Given the description of an element on the screen output the (x, y) to click on. 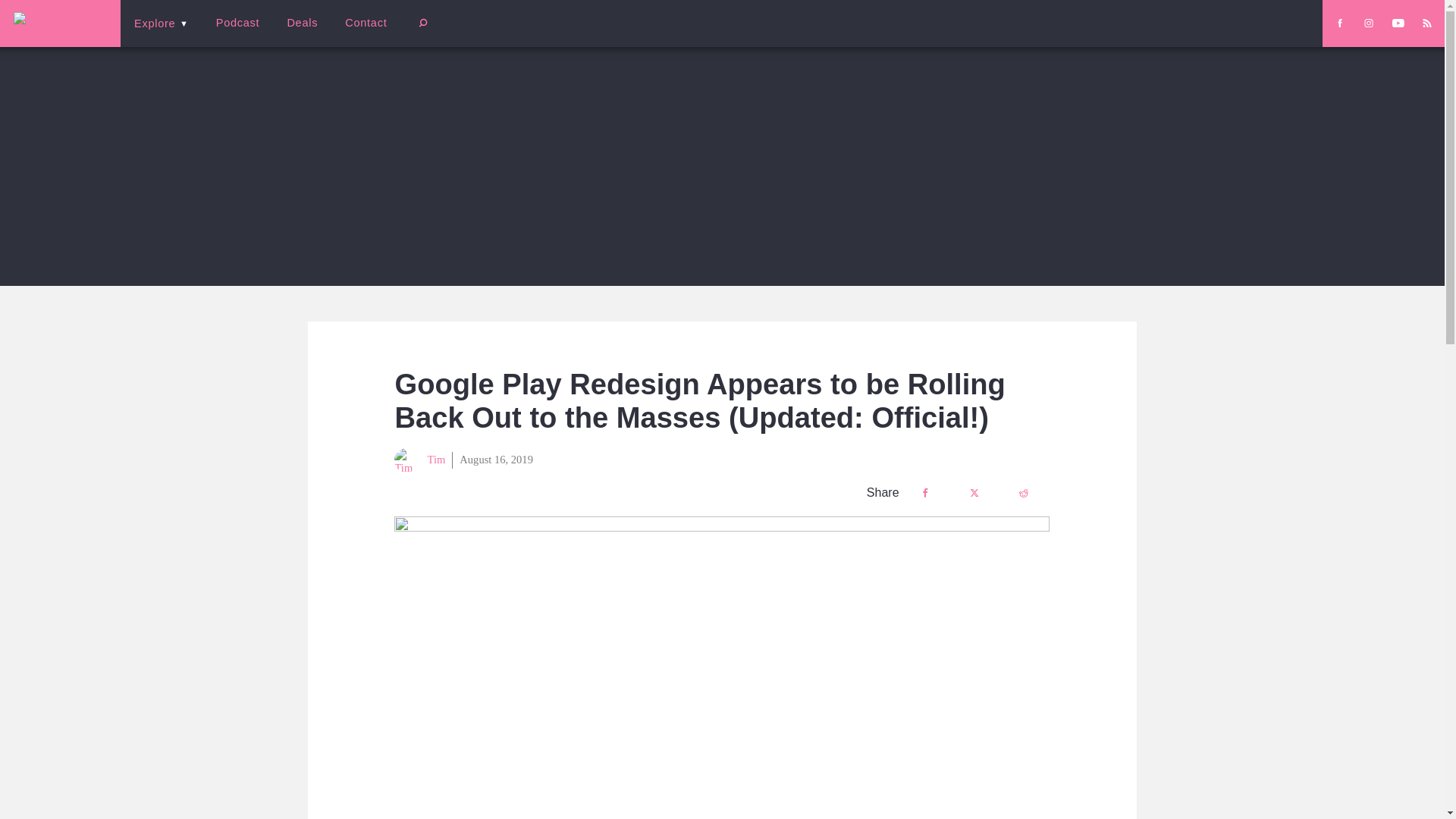
Deals (302, 23)
Podcast (237, 23)
Droid Life on Facebook (1339, 23)
Droid Life on YouTube (1398, 23)
Explore (161, 23)
Droid Life on Instagram (1368, 23)
Beginners' Guide (360, 33)
Tim (419, 459)
Droid Life RSS (1426, 23)
Contact (365, 23)
